Given the description of an element on the screen output the (x, y) to click on. 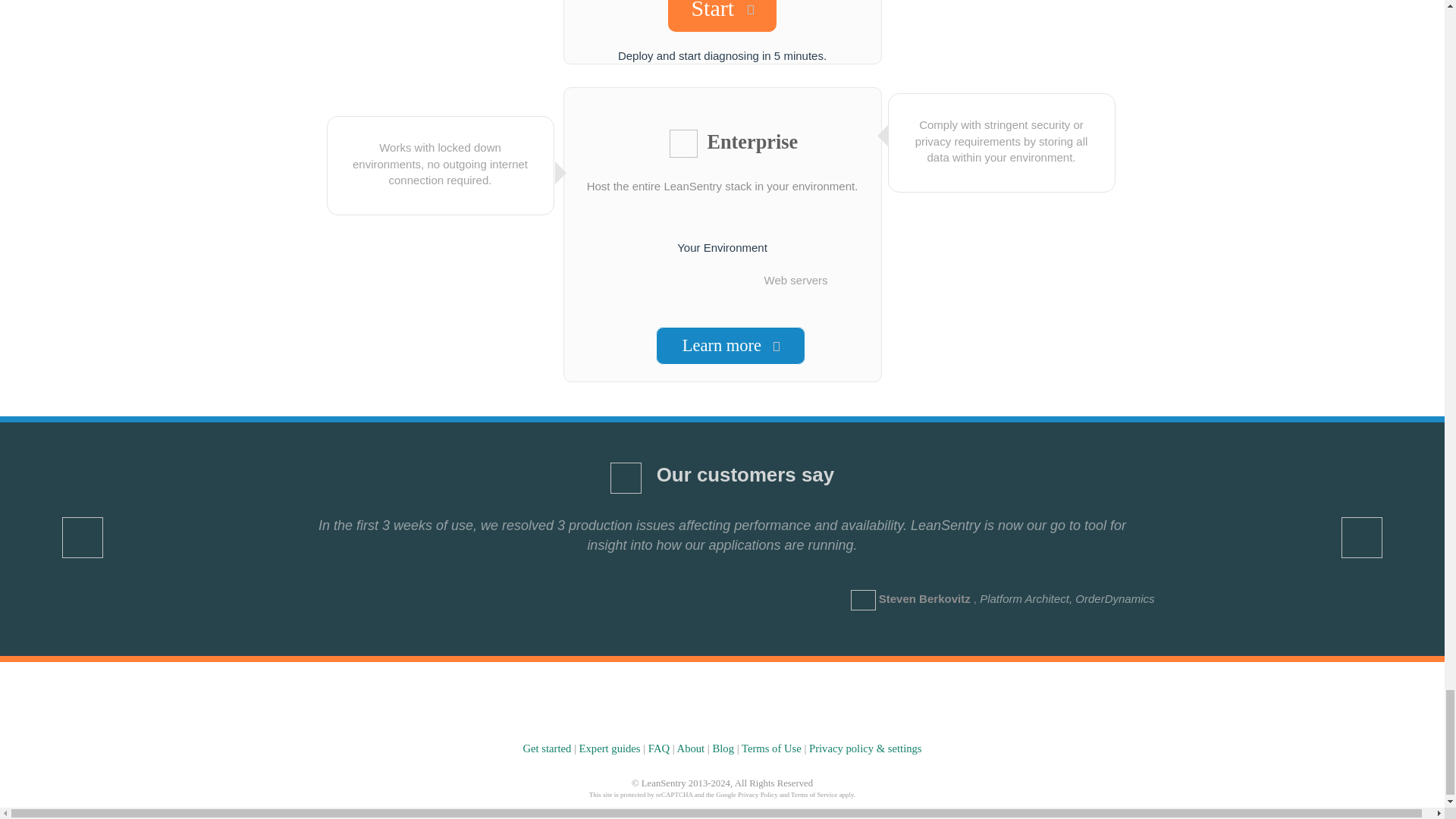
Terms of Use (771, 748)
Terms of Service (813, 794)
Start (722, 15)
Blog (722, 748)
View and manage privacy settings (865, 748)
Get started (546, 748)
About (690, 748)
Privacy Policy (757, 794)
FAQ (658, 748)
Expert guides (609, 748)
Learn more (730, 345)
